Given the description of an element on the screen output the (x, y) to click on. 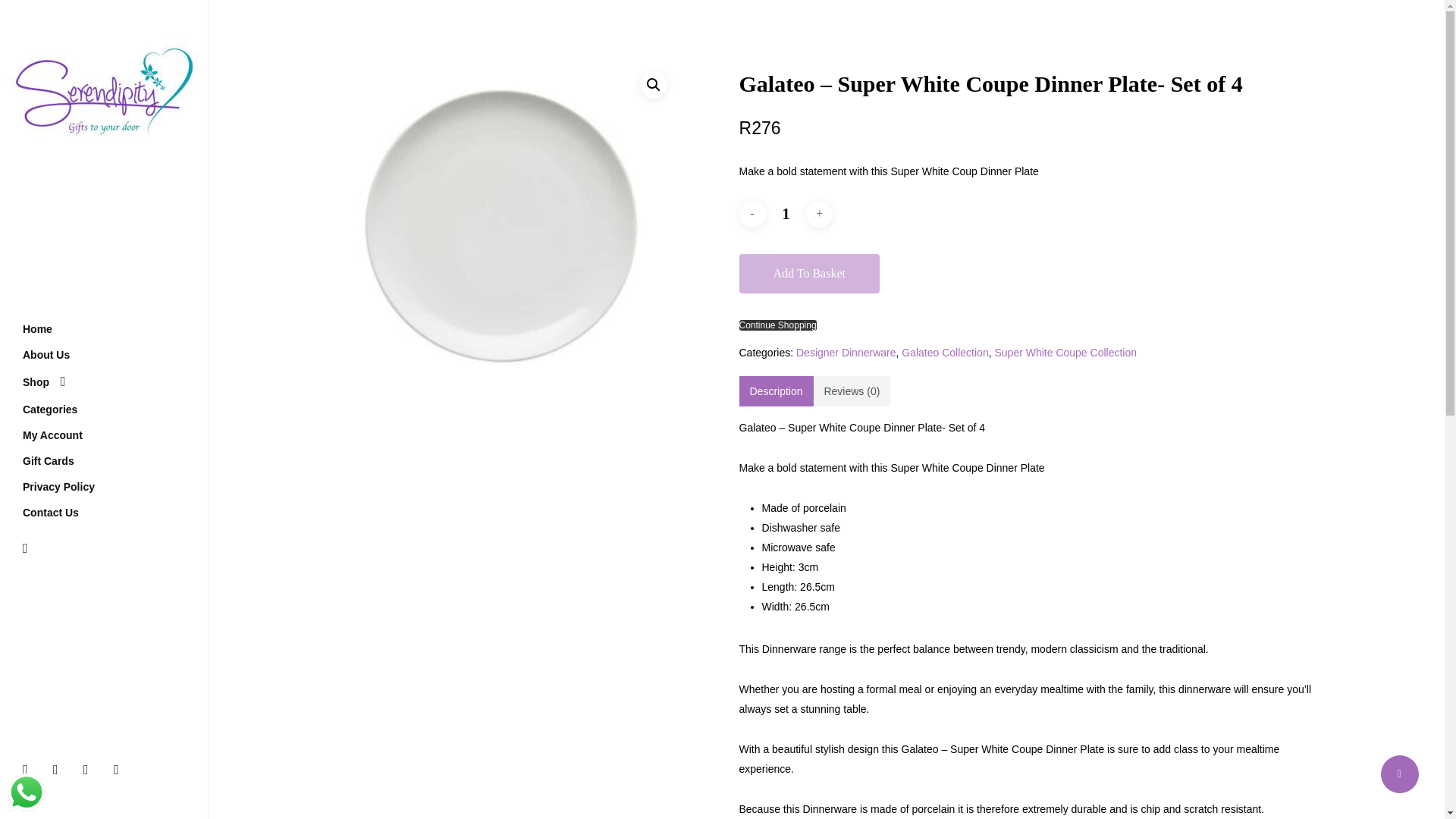
Shop (44, 381)
- (751, 213)
About Us (46, 354)
Galateo - Super White Coupe- Dinner Plate - Set of 4 (504, 233)
Whatsapp Us (26, 792)
Home (37, 329)
1 (785, 213)
